Given the description of an element on the screen output the (x, y) to click on. 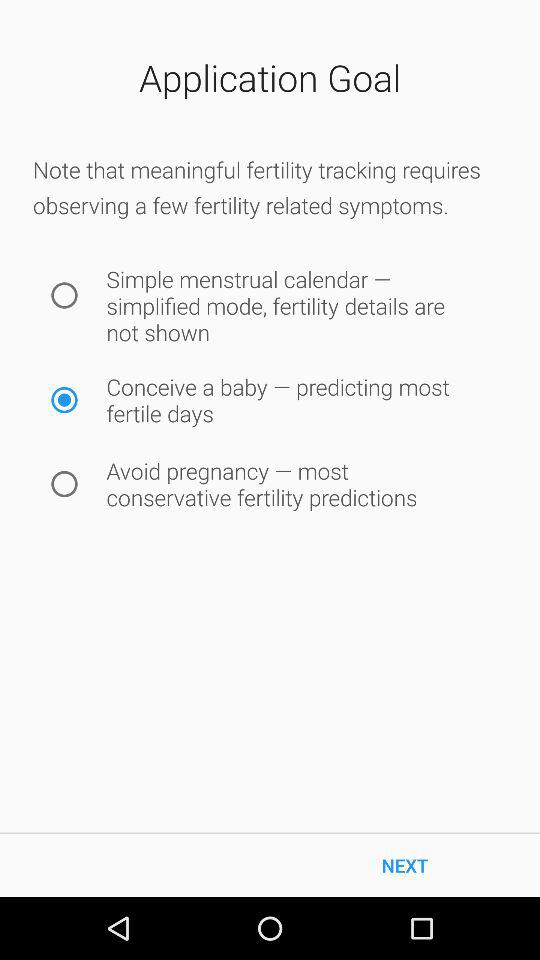
select this option (64, 483)
